Given the description of an element on the screen output the (x, y) to click on. 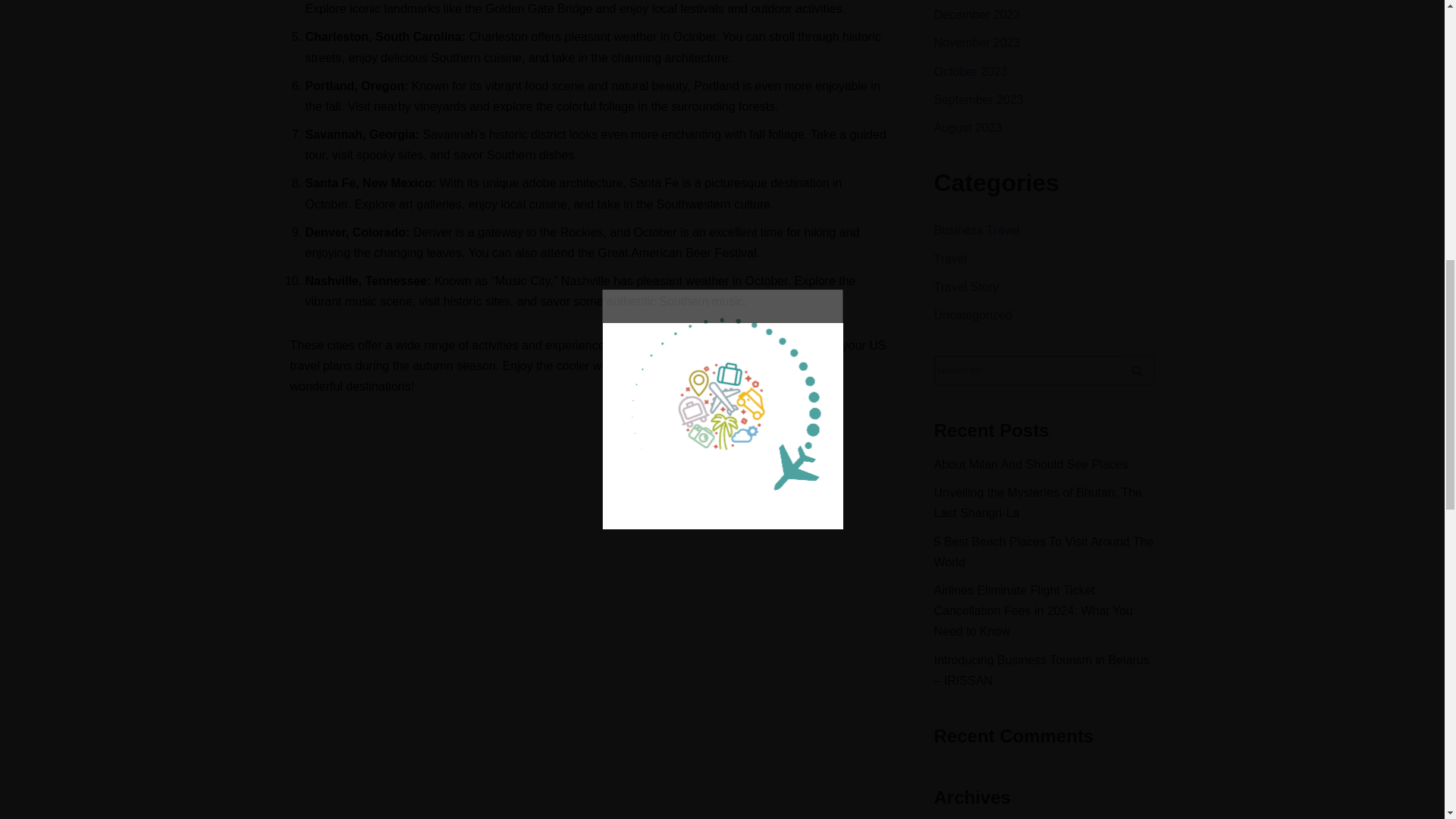
October 2023 (970, 71)
November 2023 (977, 42)
Travel Story (966, 286)
Travel (951, 258)
September 2023 (978, 99)
Business Travel (977, 229)
August 2023 (968, 127)
December 2023 (977, 14)
Uncategorized (972, 314)
